Given the description of an element on the screen output the (x, y) to click on. 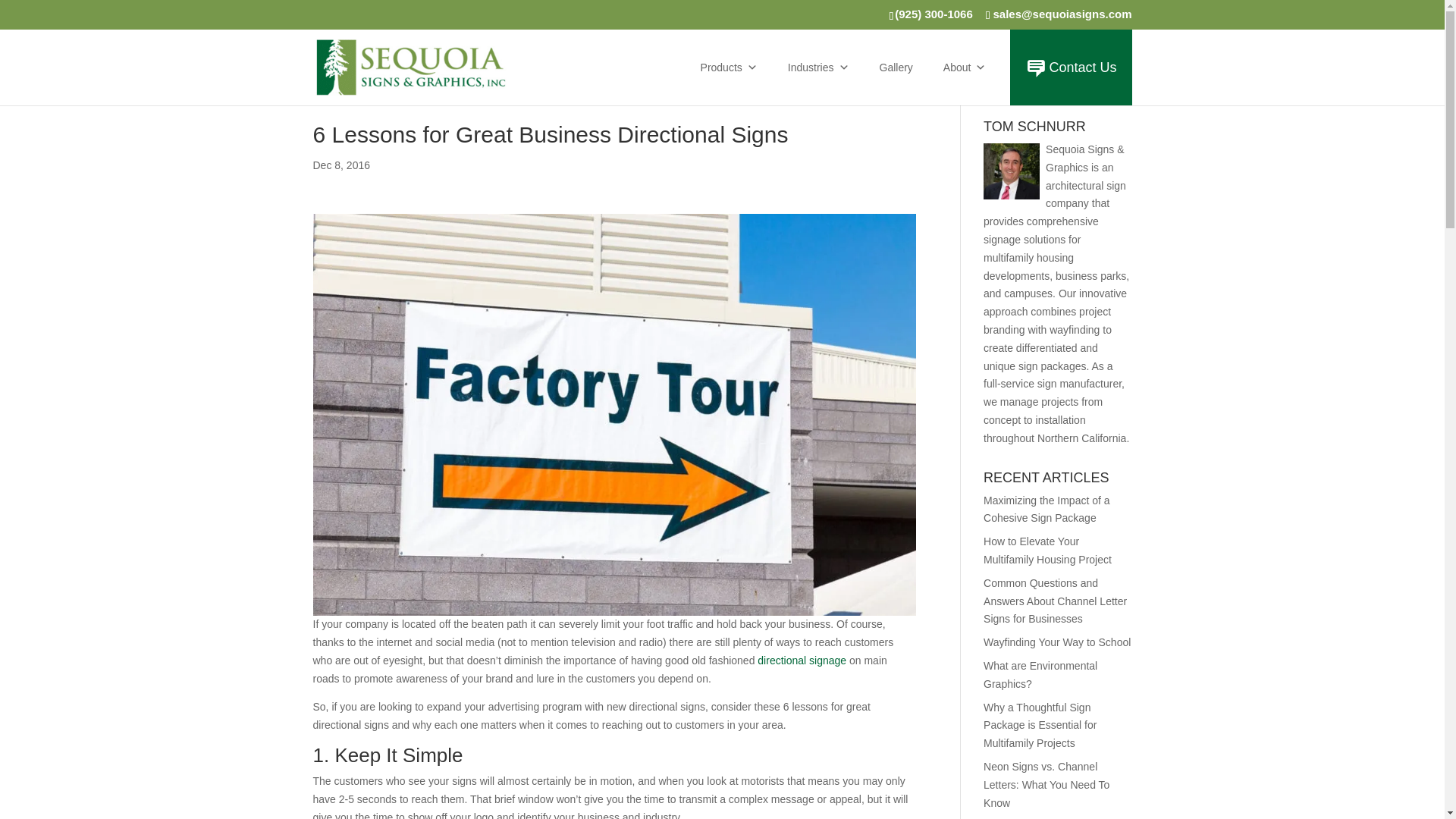
Industries (818, 66)
Gallery (896, 66)
About (964, 66)
Products (729, 66)
